Given the description of an element on the screen output the (x, y) to click on. 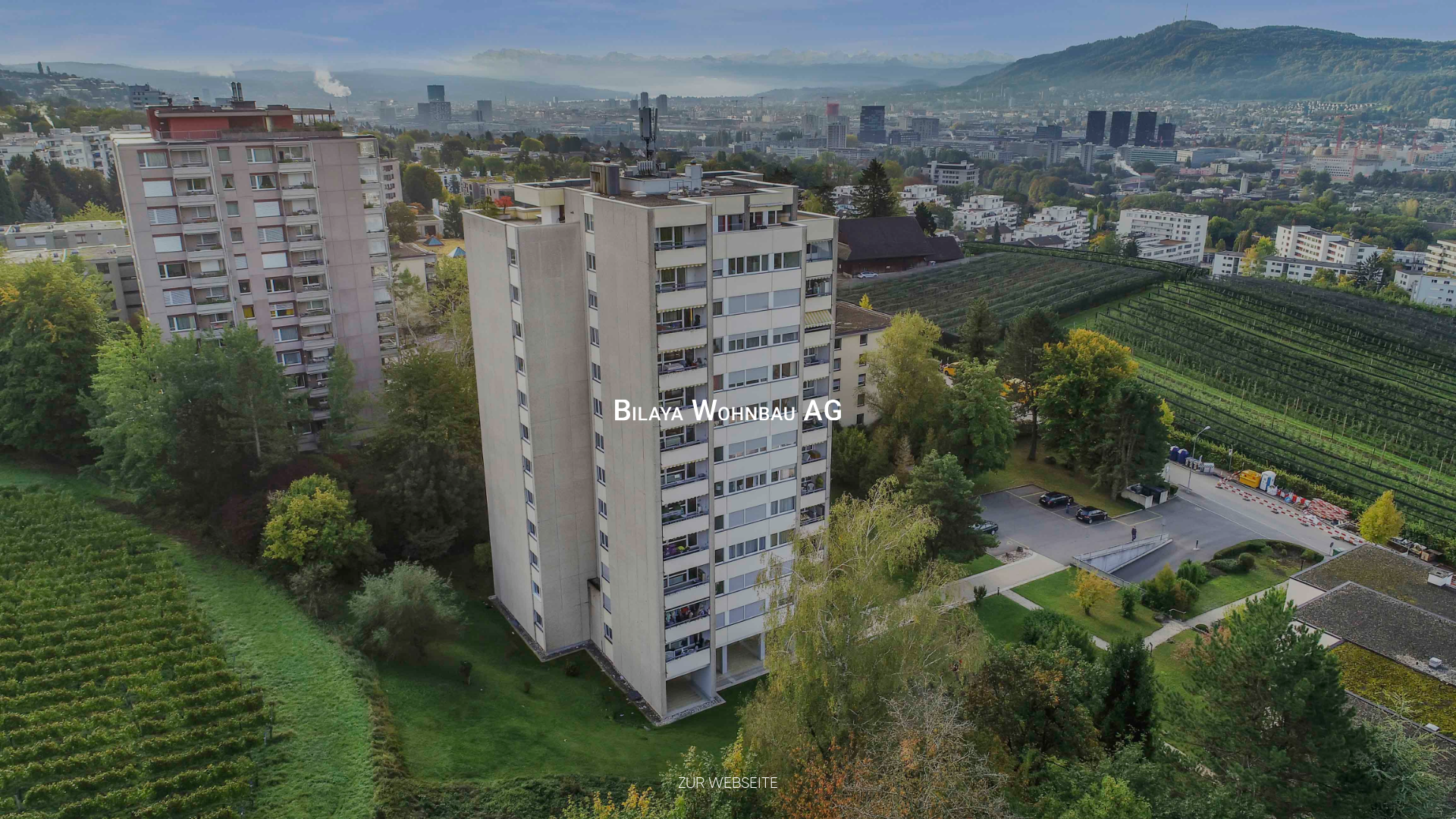
ZUR WEBSEITE Element type: text (727, 782)
